Given the description of an element on the screen output the (x, y) to click on. 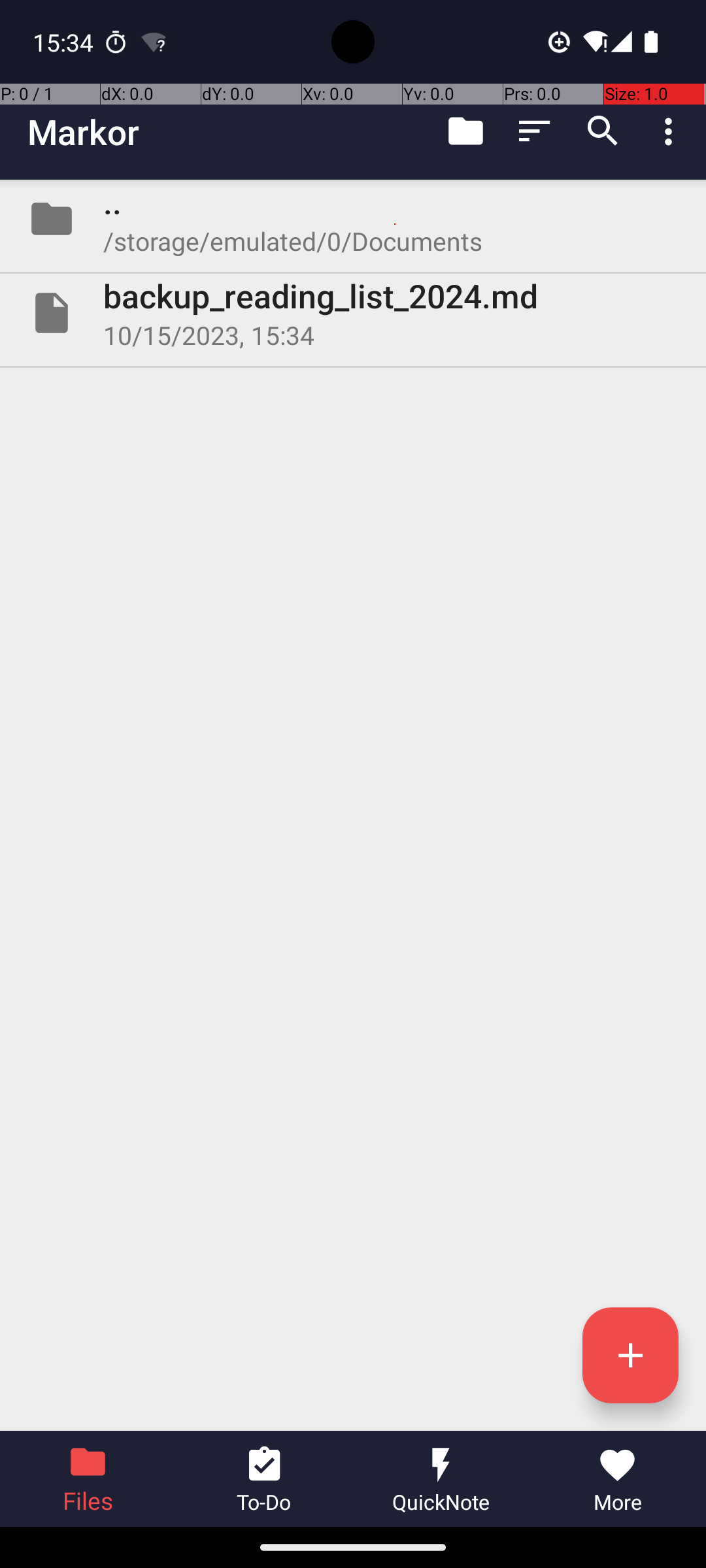
File backup_reading_list_2024.md  Element type: android.widget.LinearLayout (353, 312)
